Given the description of an element on the screen output the (x, y) to click on. 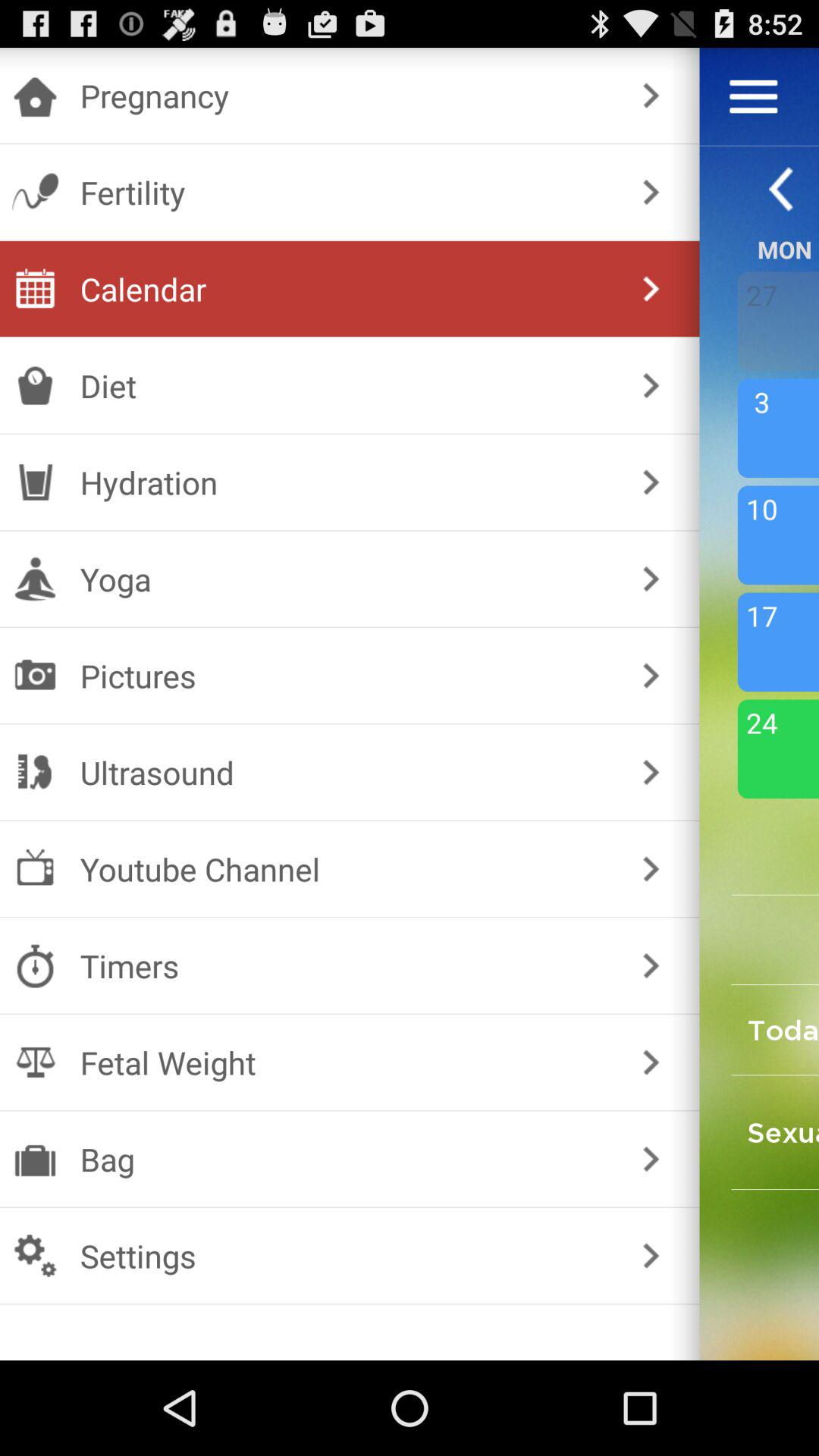
turn off the item above the fetal weight item (346, 965)
